Given the description of an element on the screen output the (x, y) to click on. 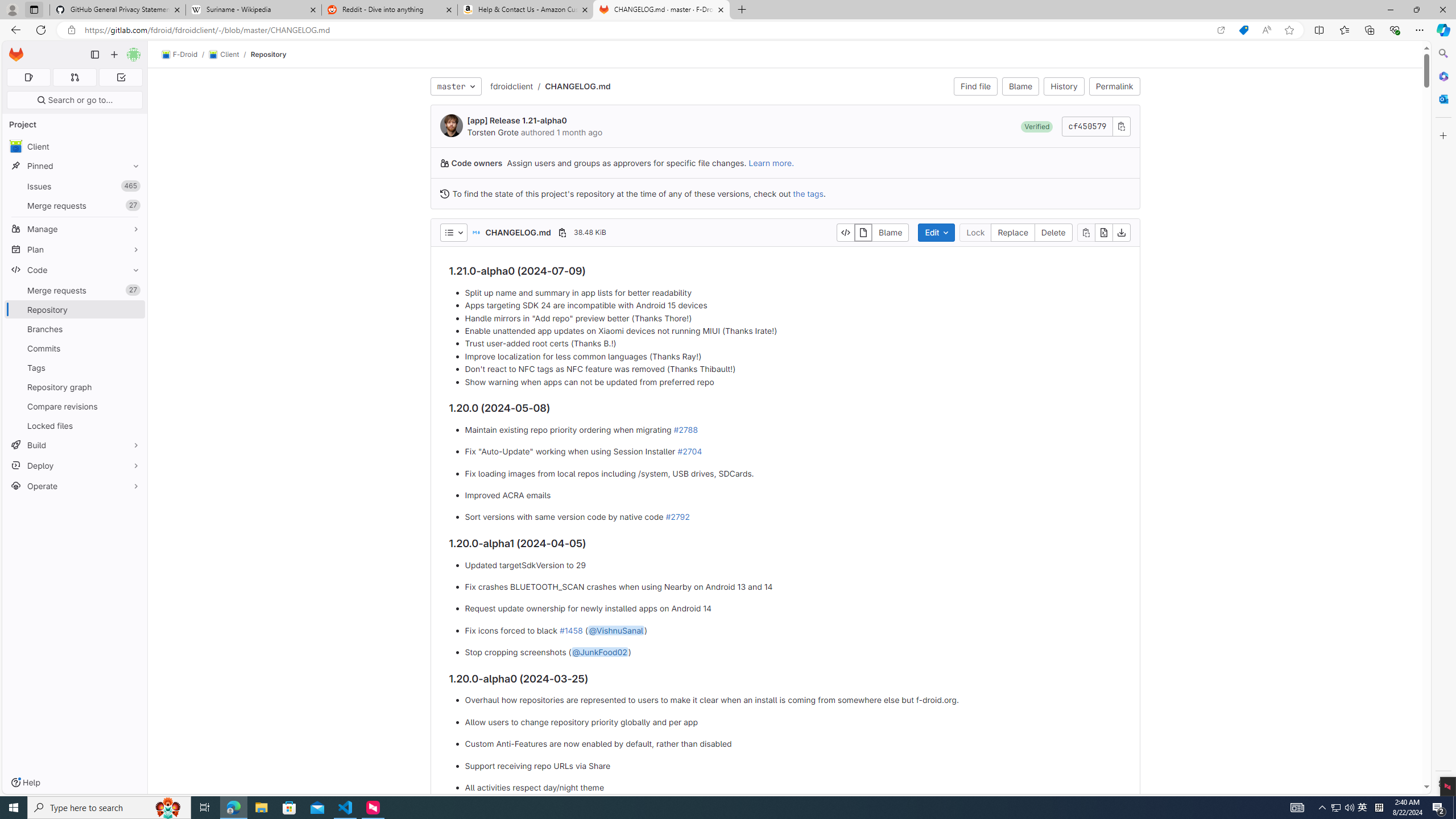
Shopping in Microsoft Edge (1243, 29)
Updated targetSdkVersion to 29 (792, 564)
Download (1121, 232)
Improve localization for less common languages (Thanks Ray!) (792, 356)
Verified (1036, 126)
AutomationID: dropdown-toggle-btn-50 (453, 232)
Pin Locked files (132, 425)
Fix icons forced to black #1458 (@VishnuSanal) (792, 630)
Edit (936, 232)
Operate (74, 485)
Pinned (74, 165)
